Given the description of an element on the screen output the (x, y) to click on. 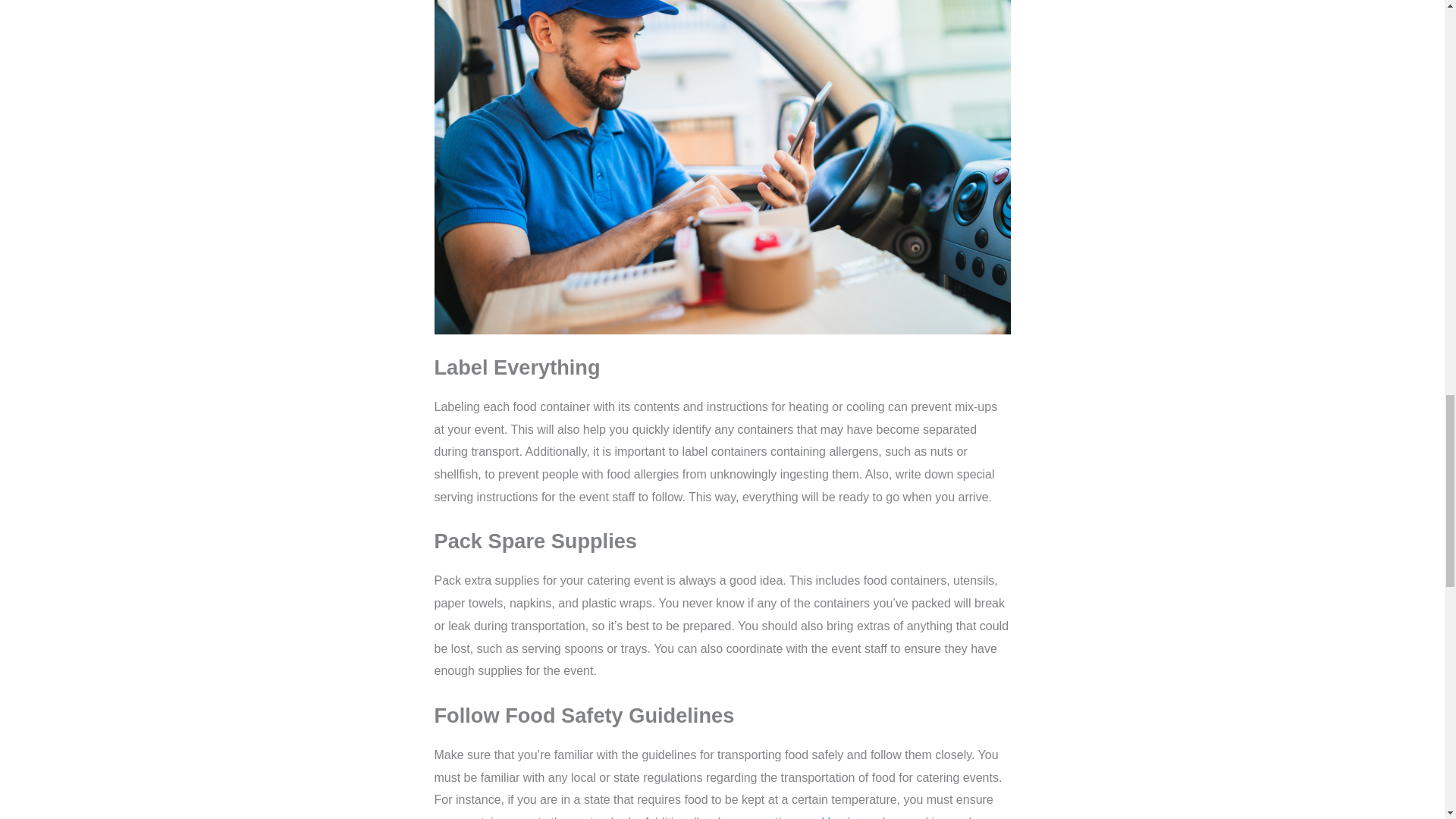
practice good hygiene (810, 817)
